Given the description of an element on the screen output the (x, y) to click on. 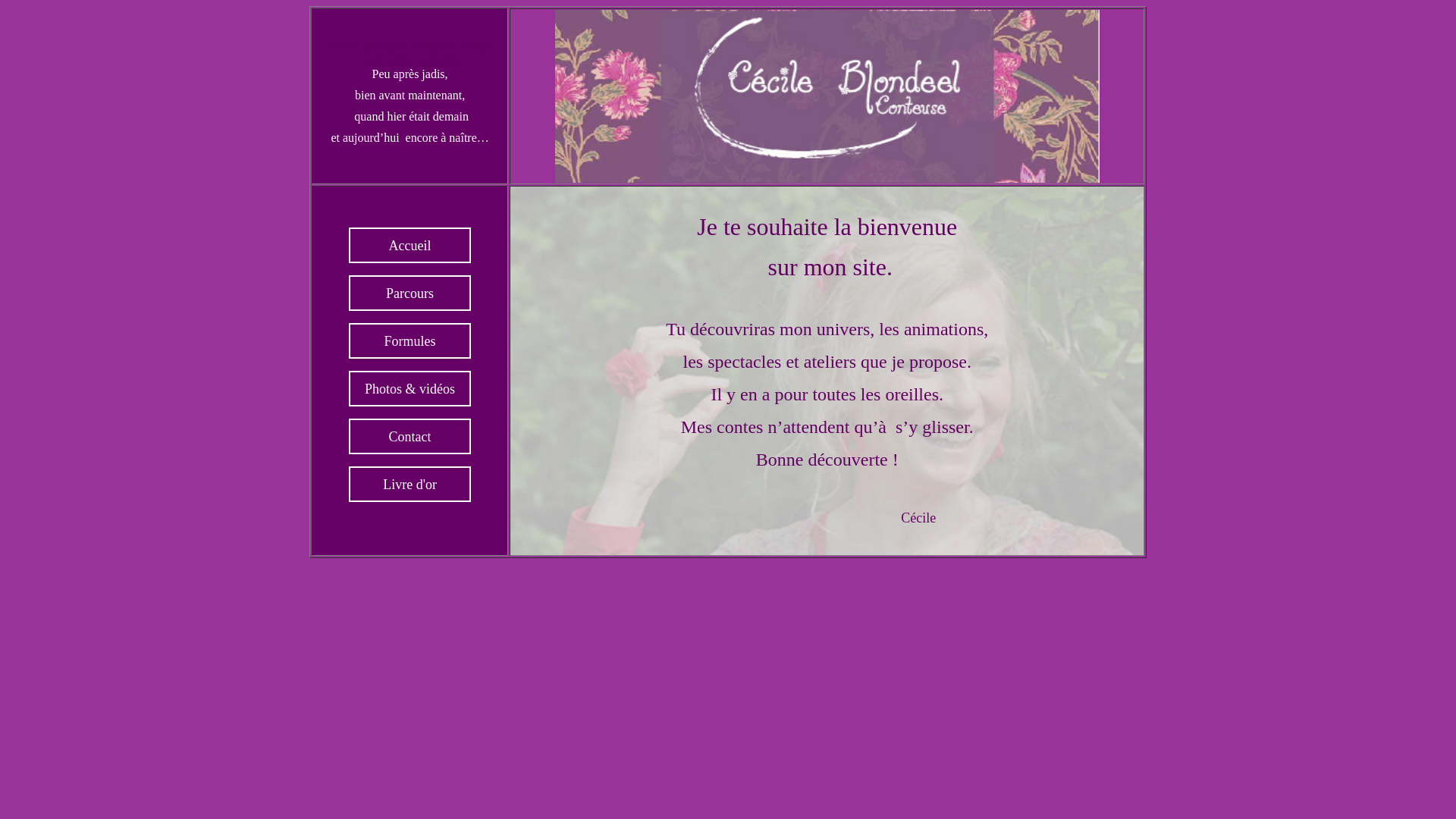
Accueil Element type: text (410, 245)
Formules Element type: text (410, 340)
Parcours Element type: text (409, 293)
Contact Element type: text (410, 436)
Livre d'or Element type: text (409, 484)
